Given the description of an element on the screen output the (x, y) to click on. 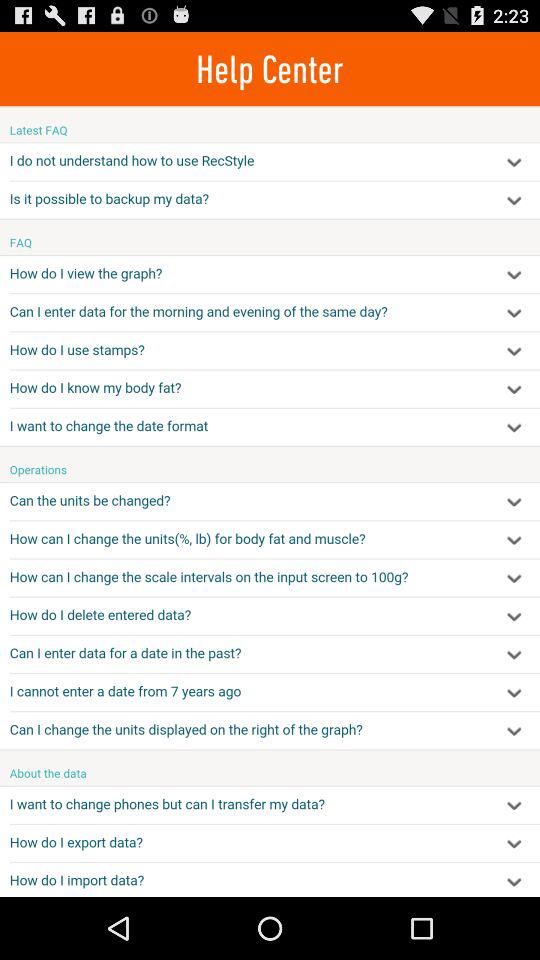
all information items (270, 501)
